Given the description of an element on the screen output the (x, y) to click on. 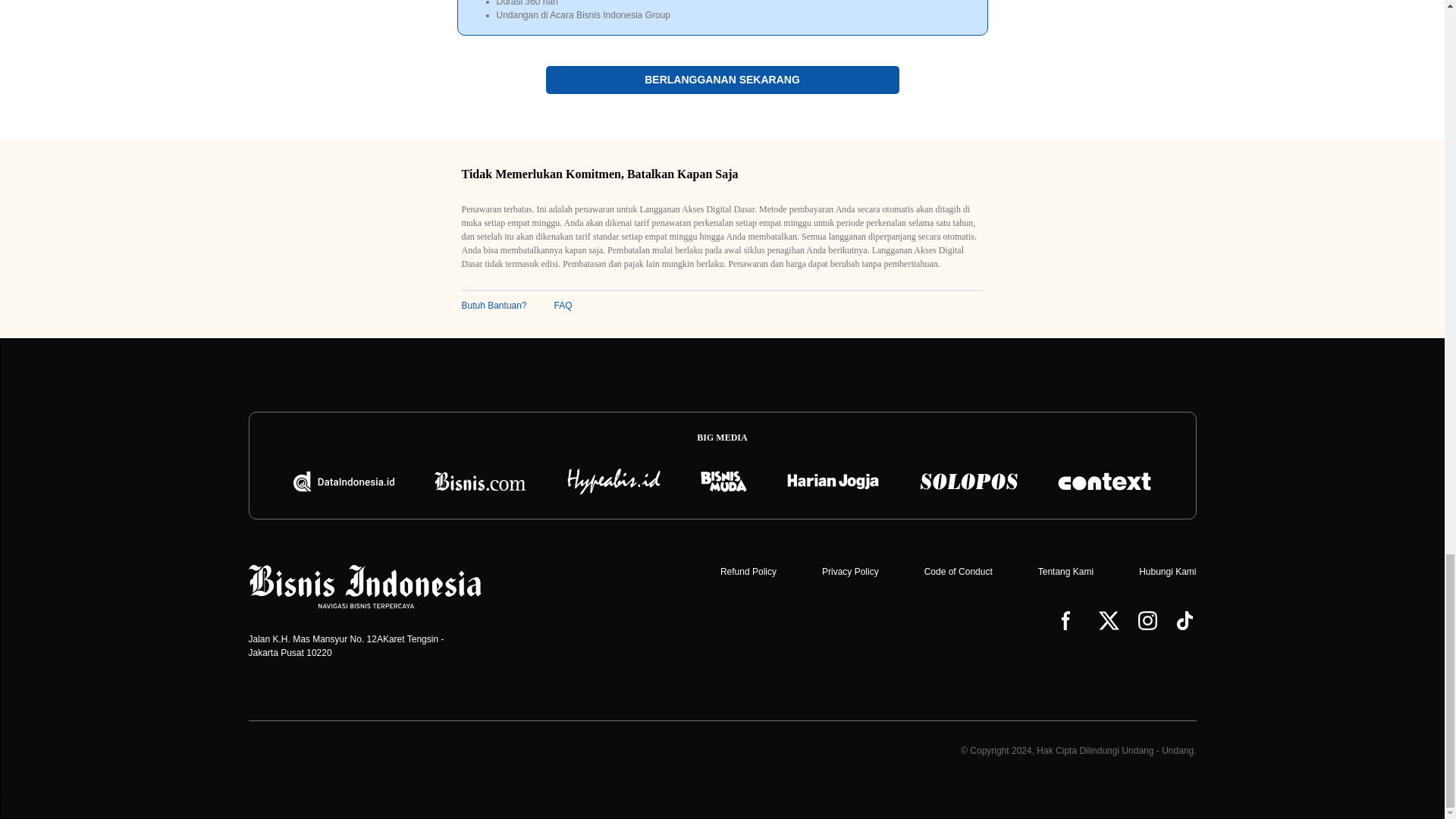
Butuh Bantuan? (493, 305)
FAQ (563, 305)
